Given the description of an element on the screen output the (x, y) to click on. 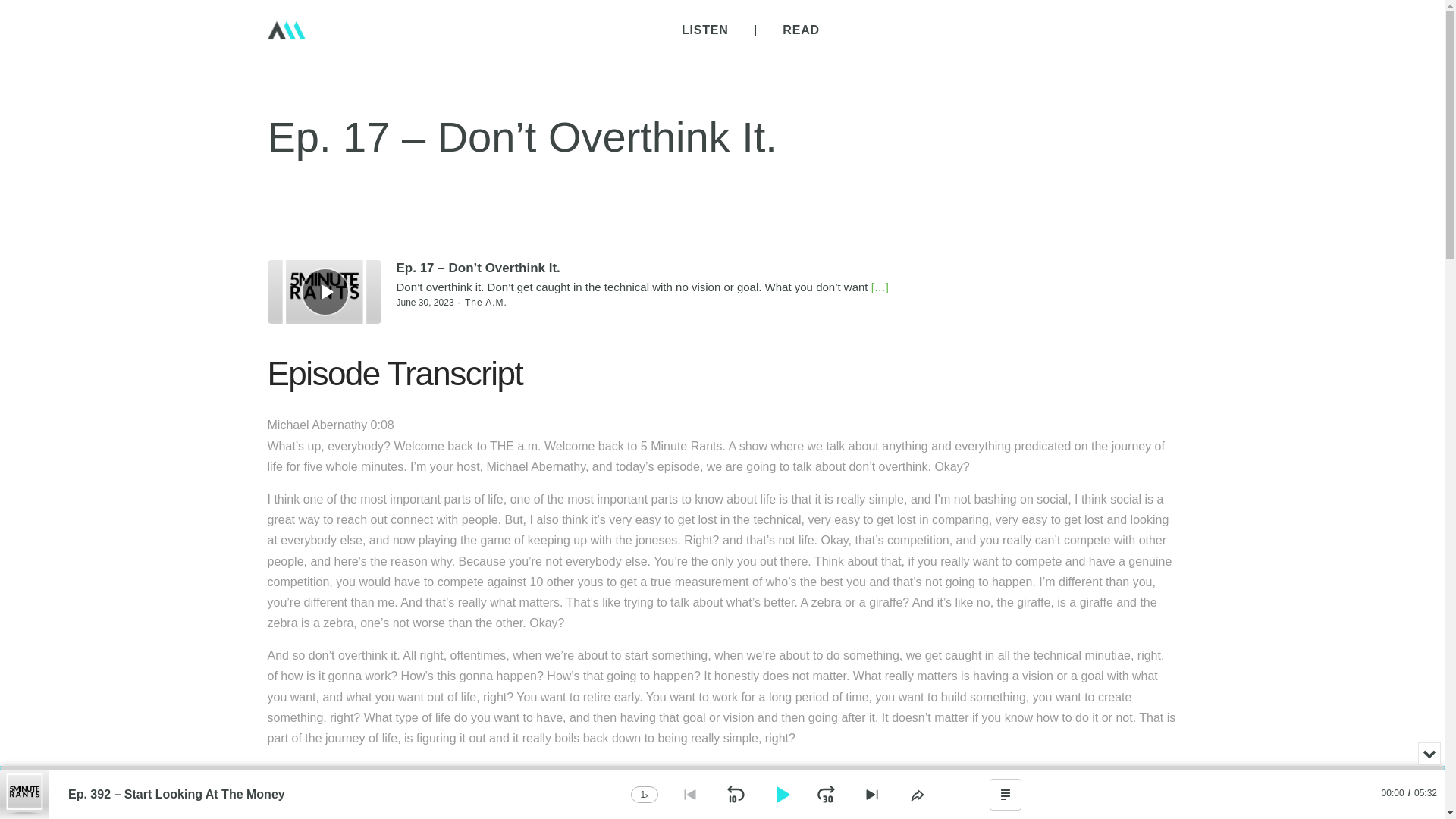
LISTEN (705, 30)
READ (800, 30)
